Given the description of an element on the screen output the (x, y) to click on. 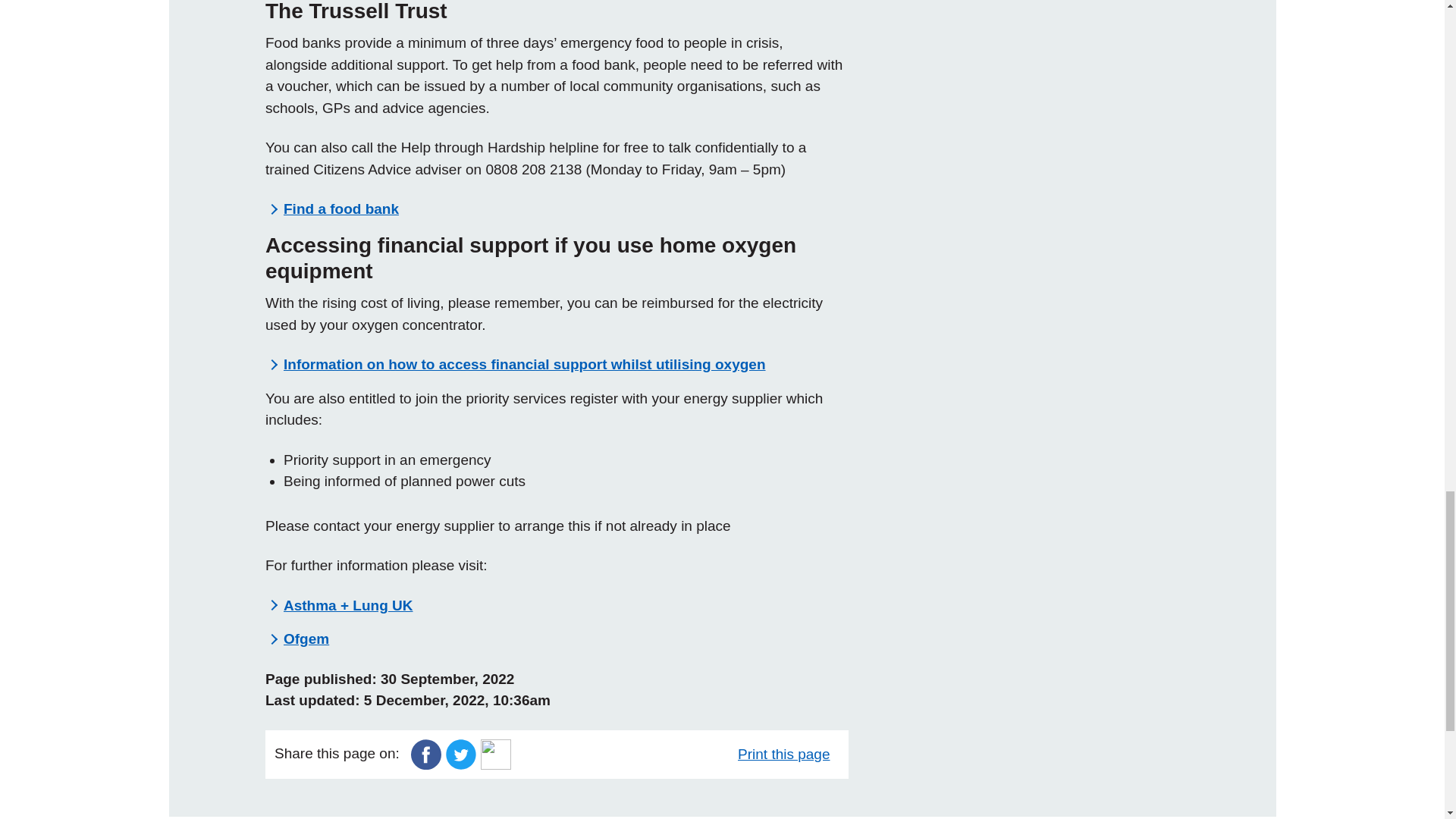
Share on Twitter (460, 753)
Share on Facebook (425, 753)
Share via Email (495, 753)
